Given the description of an element on the screen output the (x, y) to click on. 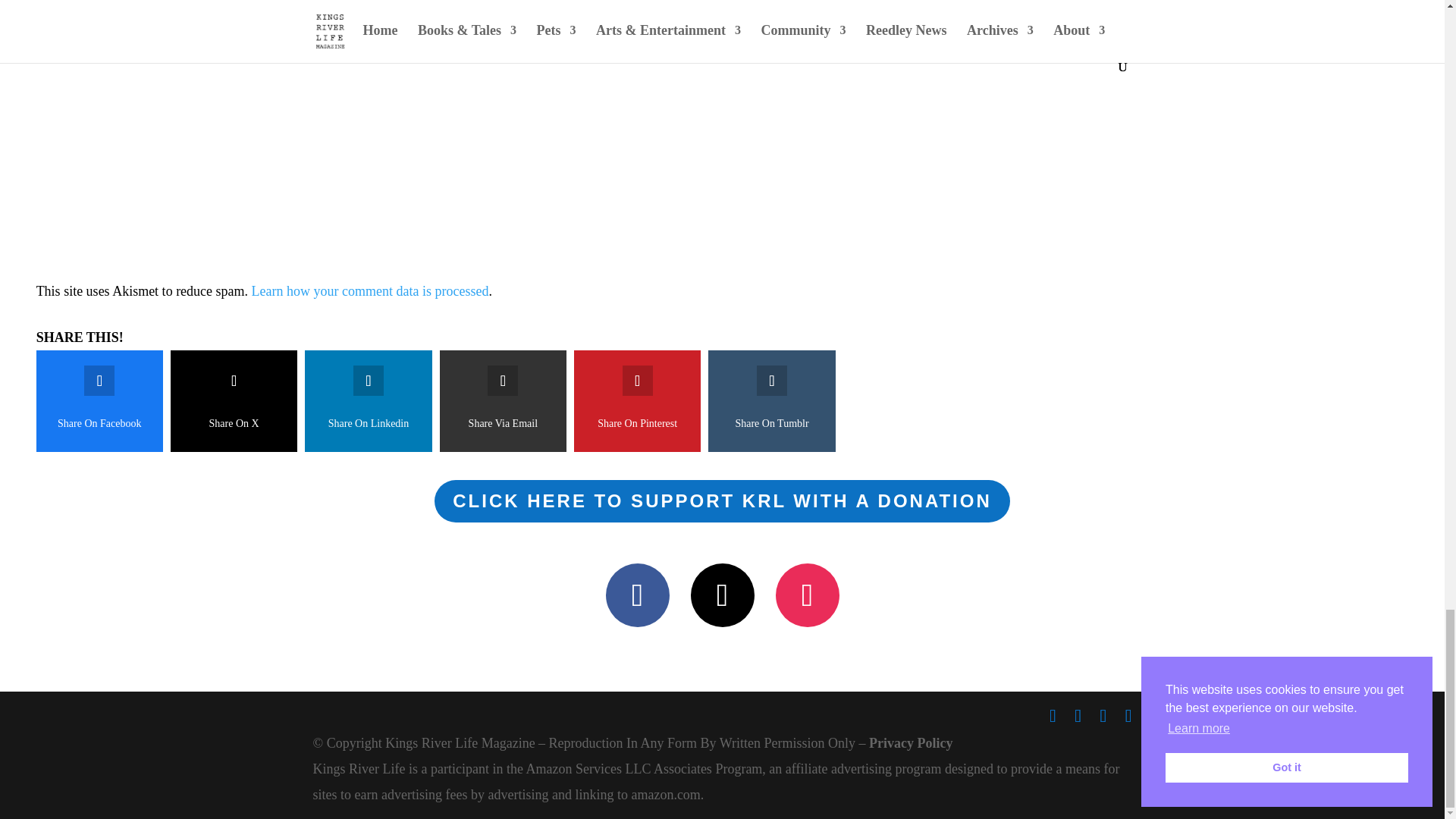
Follow on X (722, 595)
Follow on Facebook (636, 595)
Follow on Instagram (806, 595)
